Given the description of an element on the screen output the (x, y) to click on. 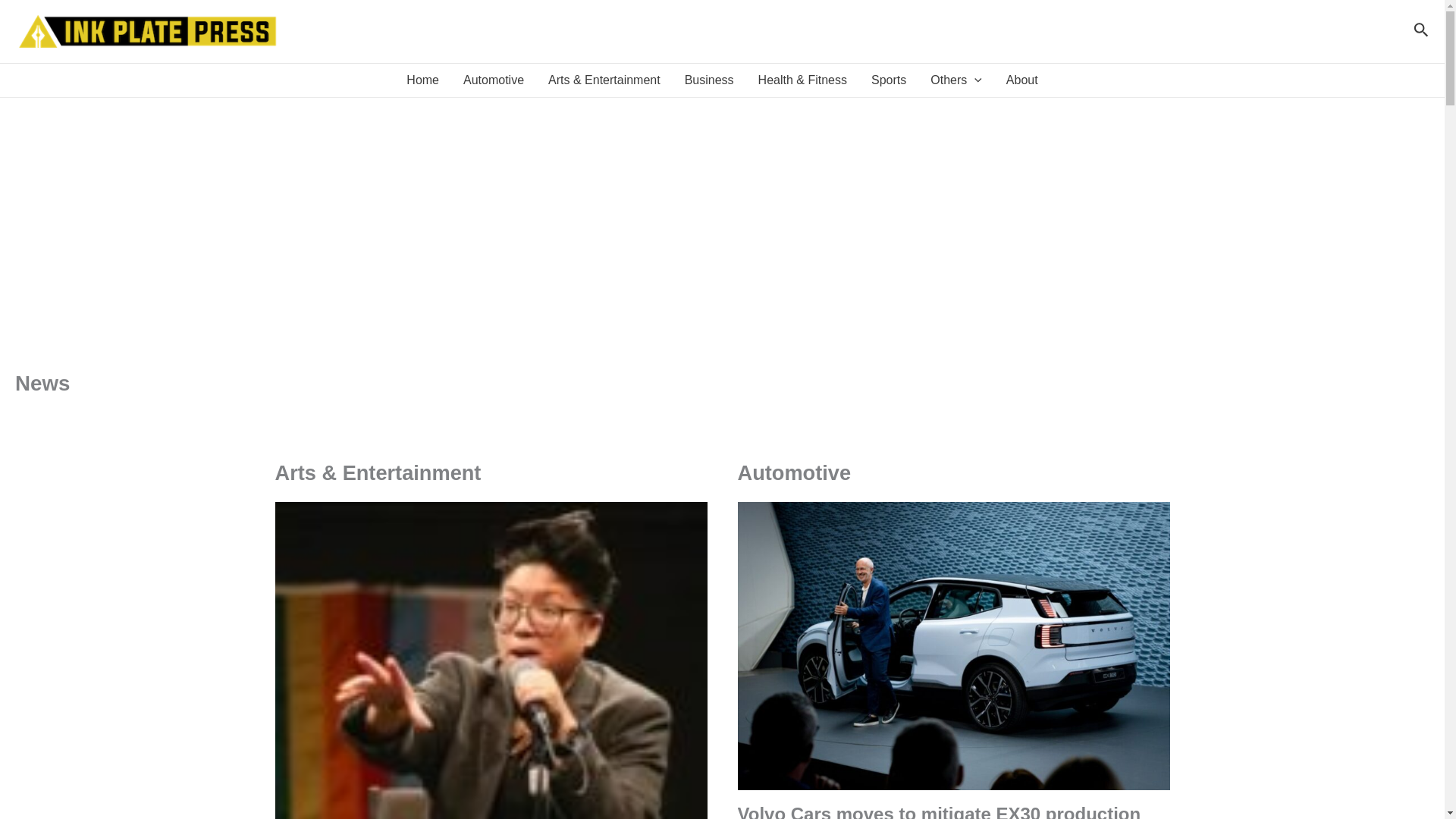
Others (956, 80)
Home (422, 80)
About (1021, 80)
Sports (888, 80)
Business (708, 80)
Automotive (493, 80)
